Given the description of an element on the screen output the (x, y) to click on. 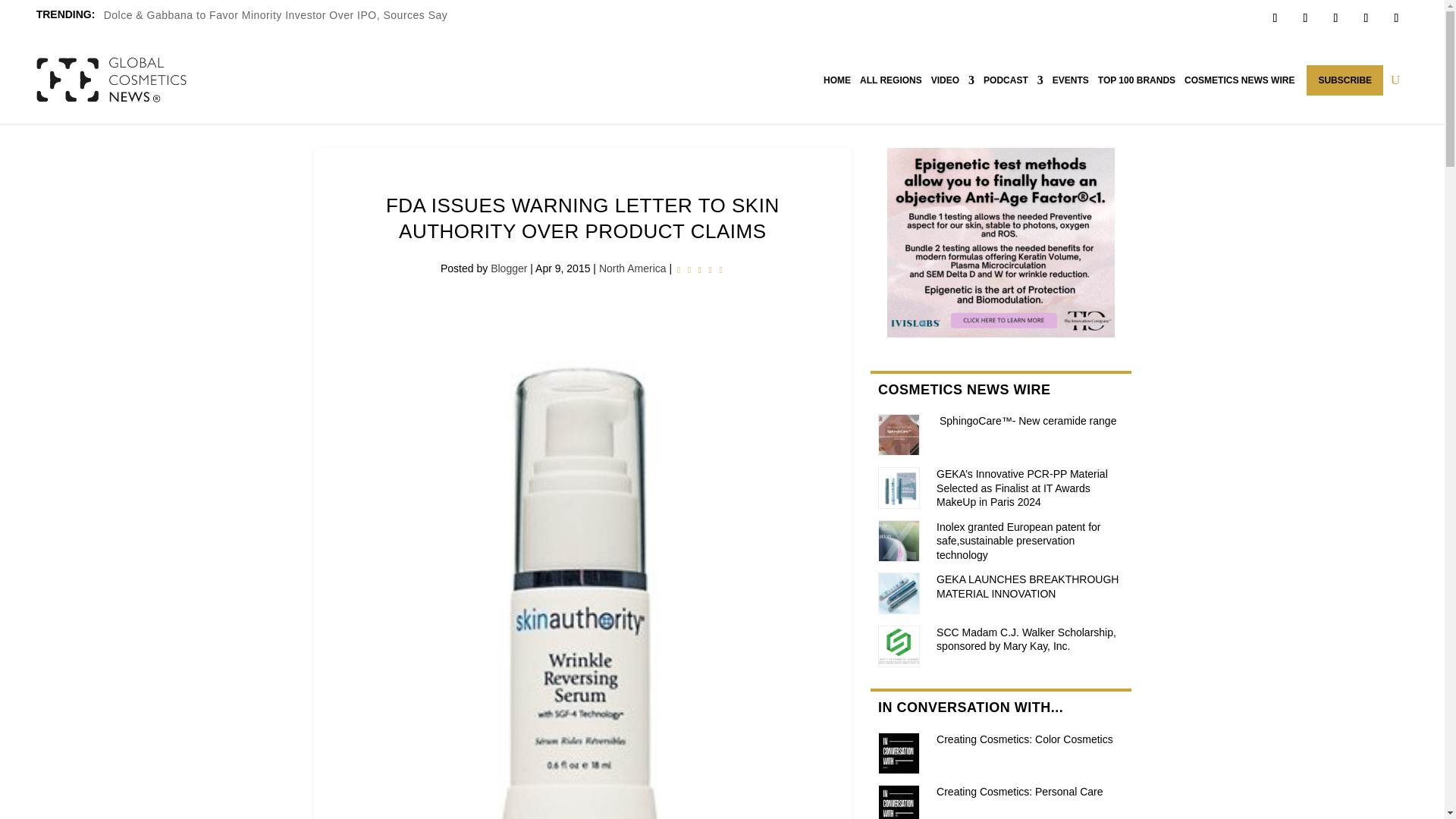
ALL REGIONS (890, 79)
Follow on Facebook (1274, 17)
PODCAST (1013, 79)
Posts by Blogger (508, 268)
Follow on X (1304, 17)
Rating: 0.00 (700, 269)
COSMETICS NEWS WIRE (1239, 79)
Follow on Instagram (1335, 17)
Follow on LinkedIn (1365, 17)
Follow on Youtube (1395, 17)
